Given the description of an element on the screen output the (x, y) to click on. 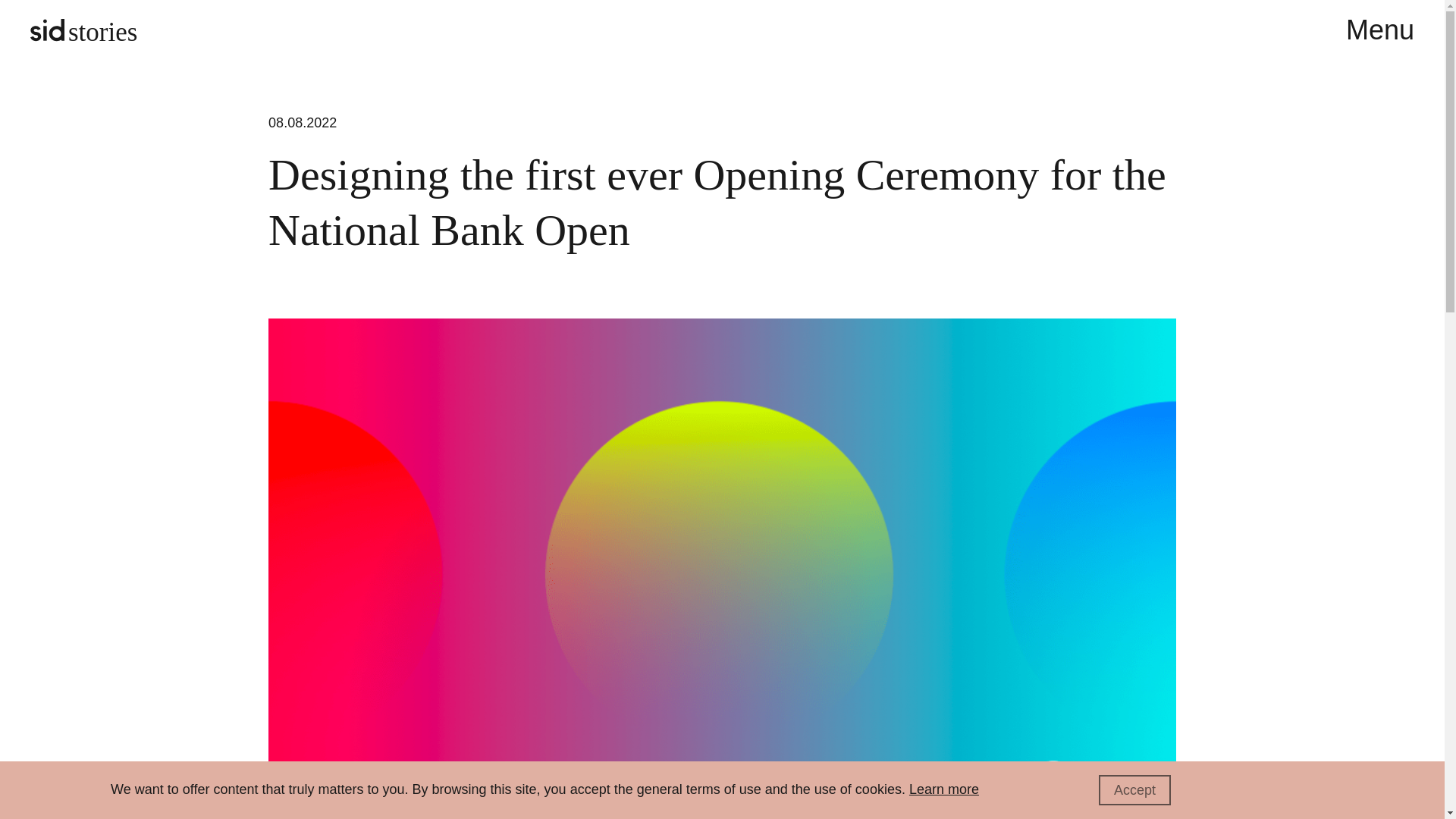
Learn more (943, 789)
stories (83, 30)
Menu (1379, 30)
Accept (1134, 789)
